Given the description of an element on the screen output the (x, y) to click on. 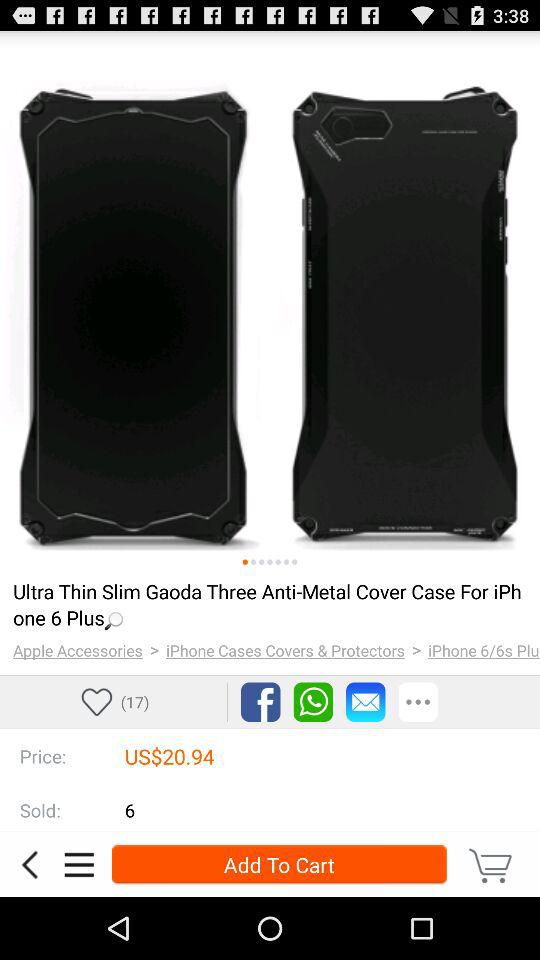
turn on item to the left of the > app (77, 650)
